Given the description of an element on the screen output the (x, y) to click on. 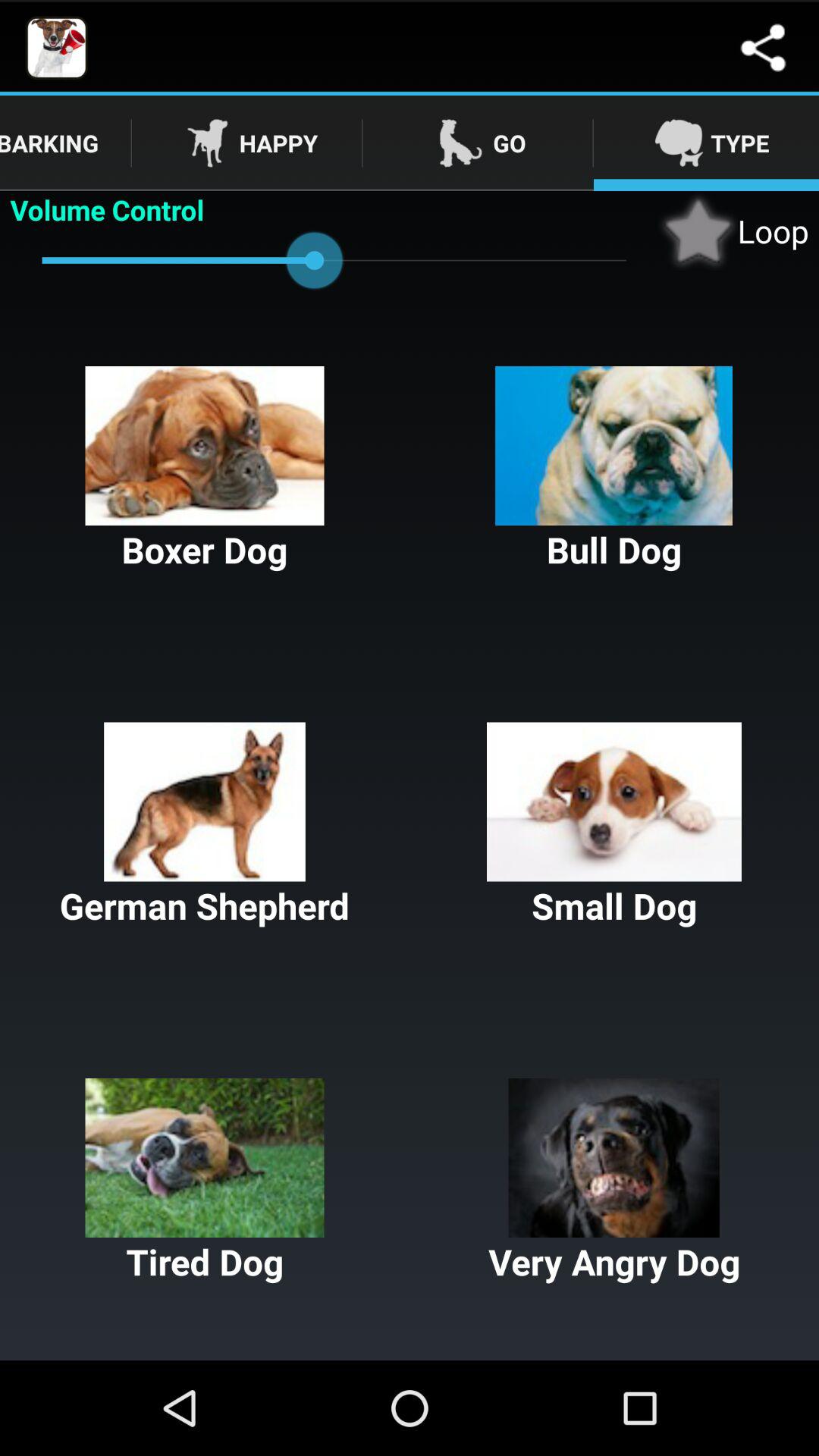
jump to the loop item (733, 230)
